Given the description of an element on the screen output the (x, y) to click on. 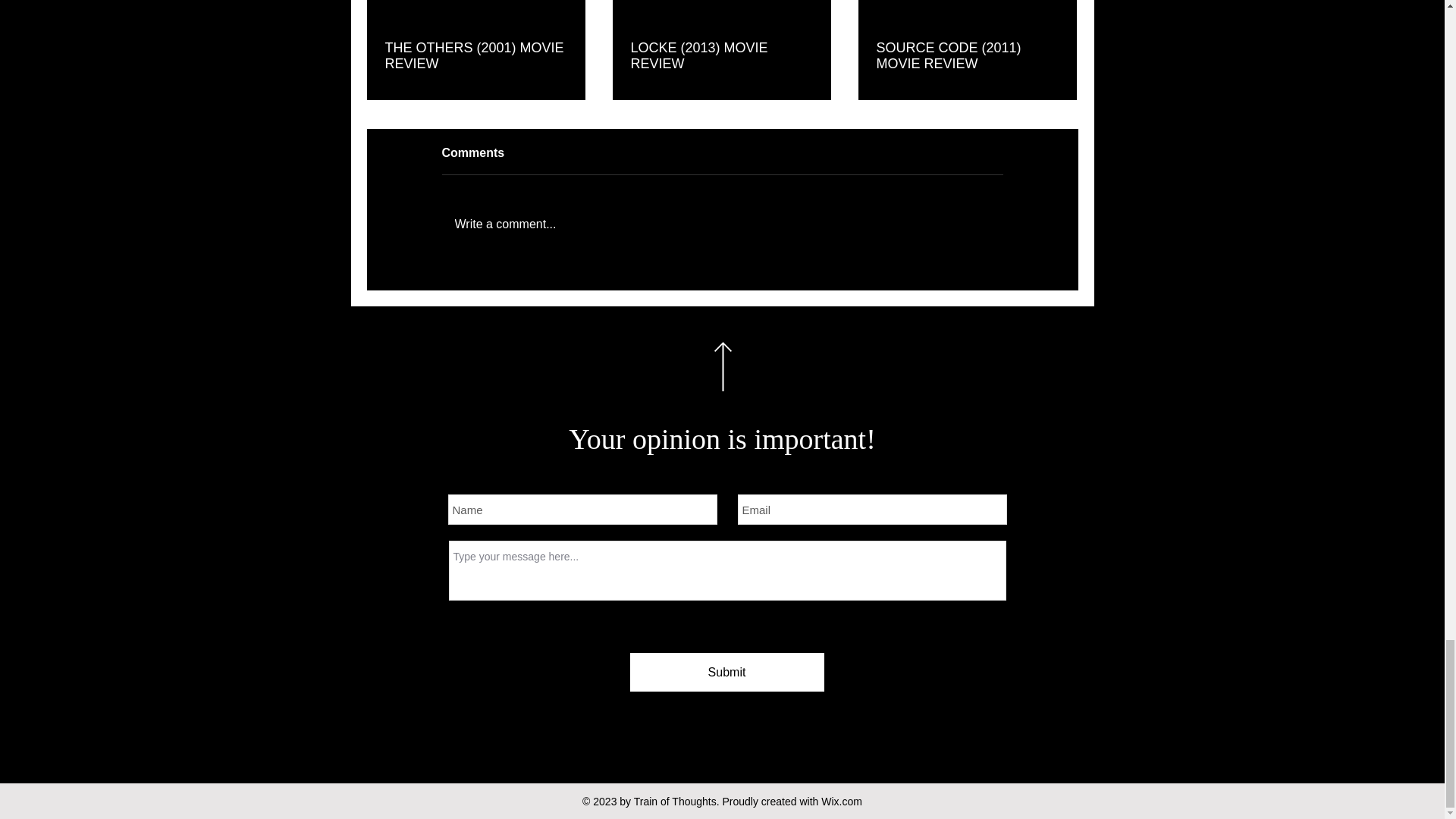
Wix.com (841, 801)
Submit (726, 671)
Write a comment... (722, 224)
